Given the description of an element on the screen output the (x, y) to click on. 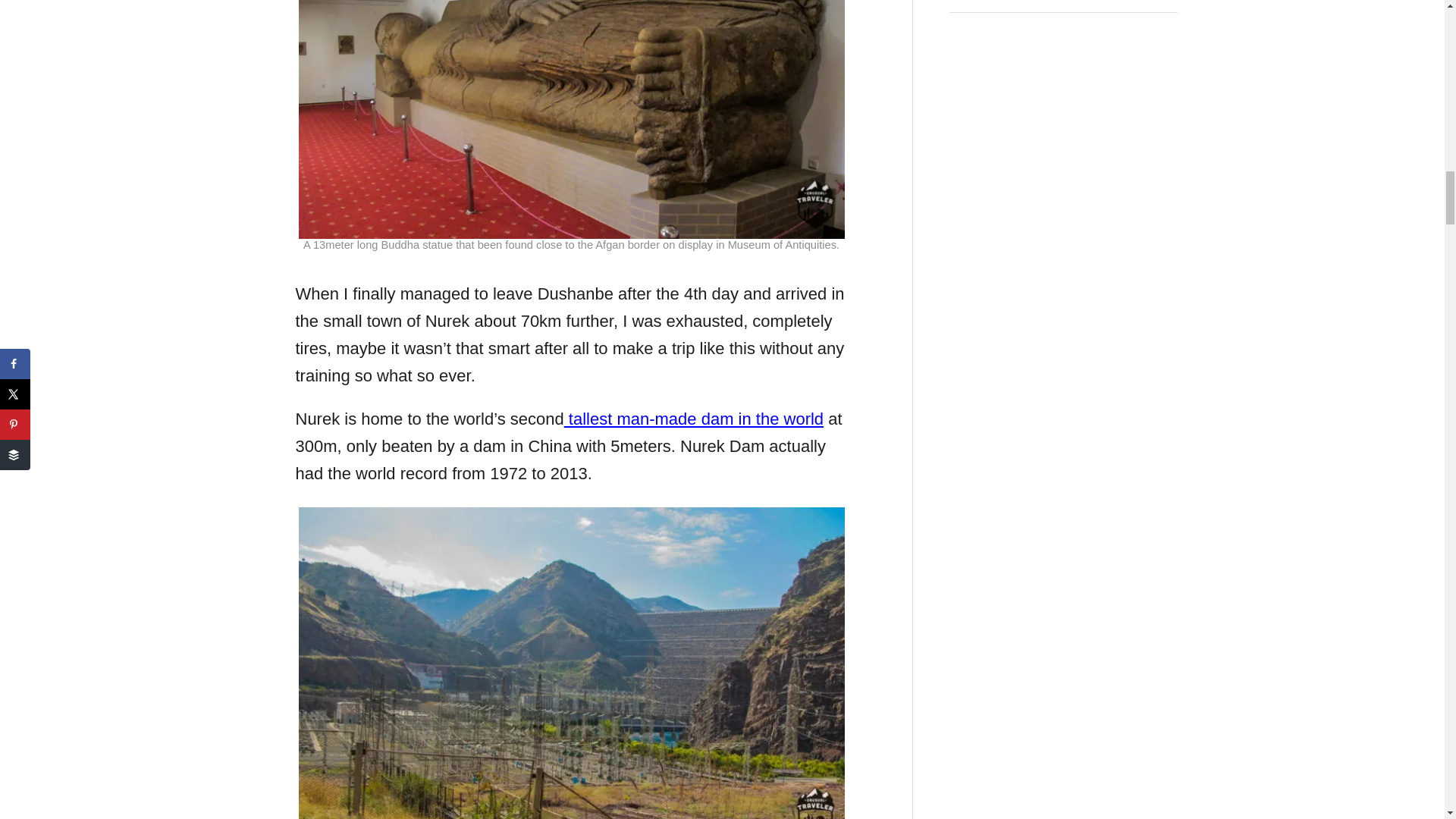
List of tallest dams in the world (694, 418)
